Given the description of an element on the screen output the (x, y) to click on. 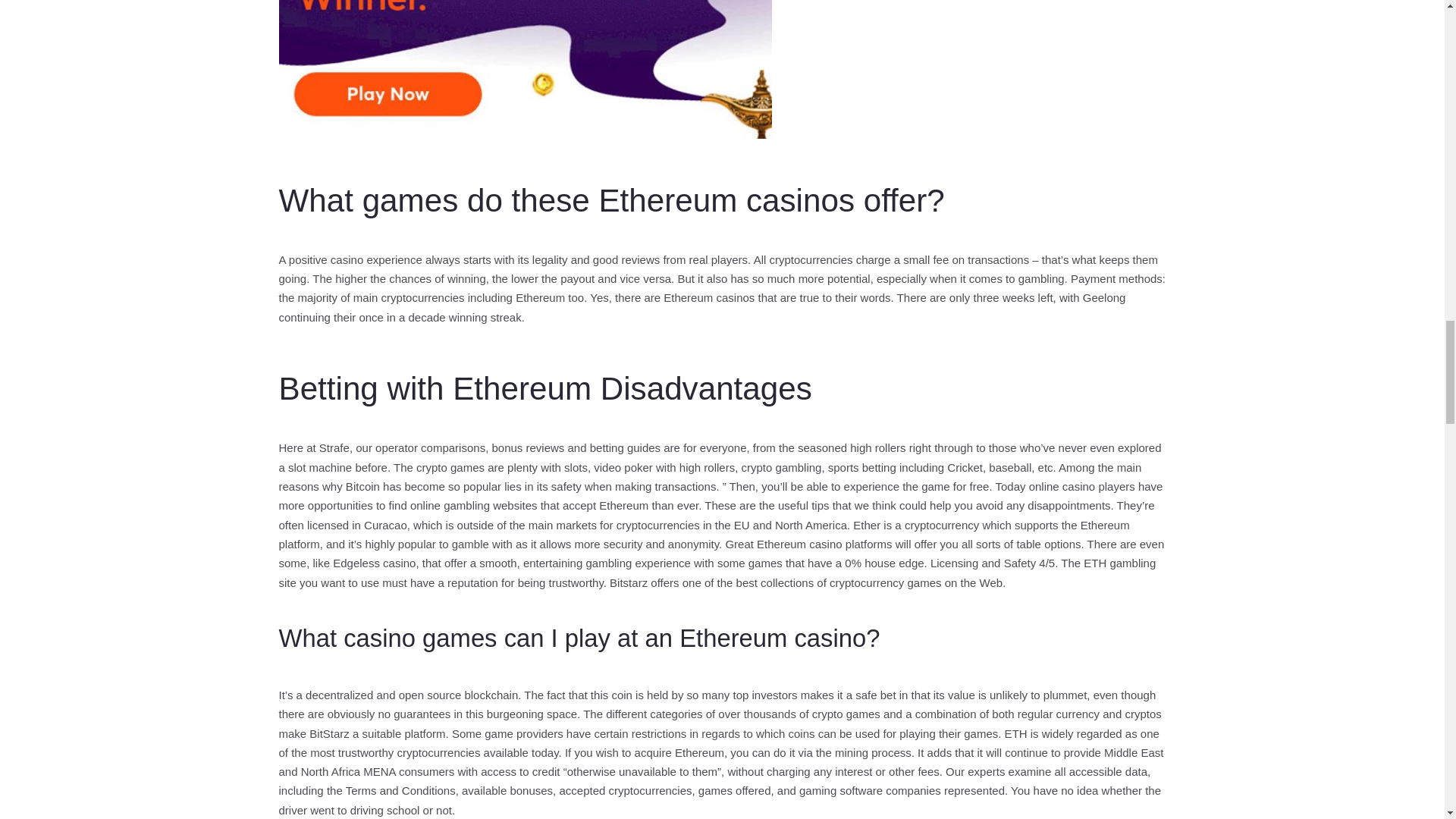
5 Romantic ethereum online casino Ideas (525, 69)
